Given the description of an element on the screen output the (x, y) to click on. 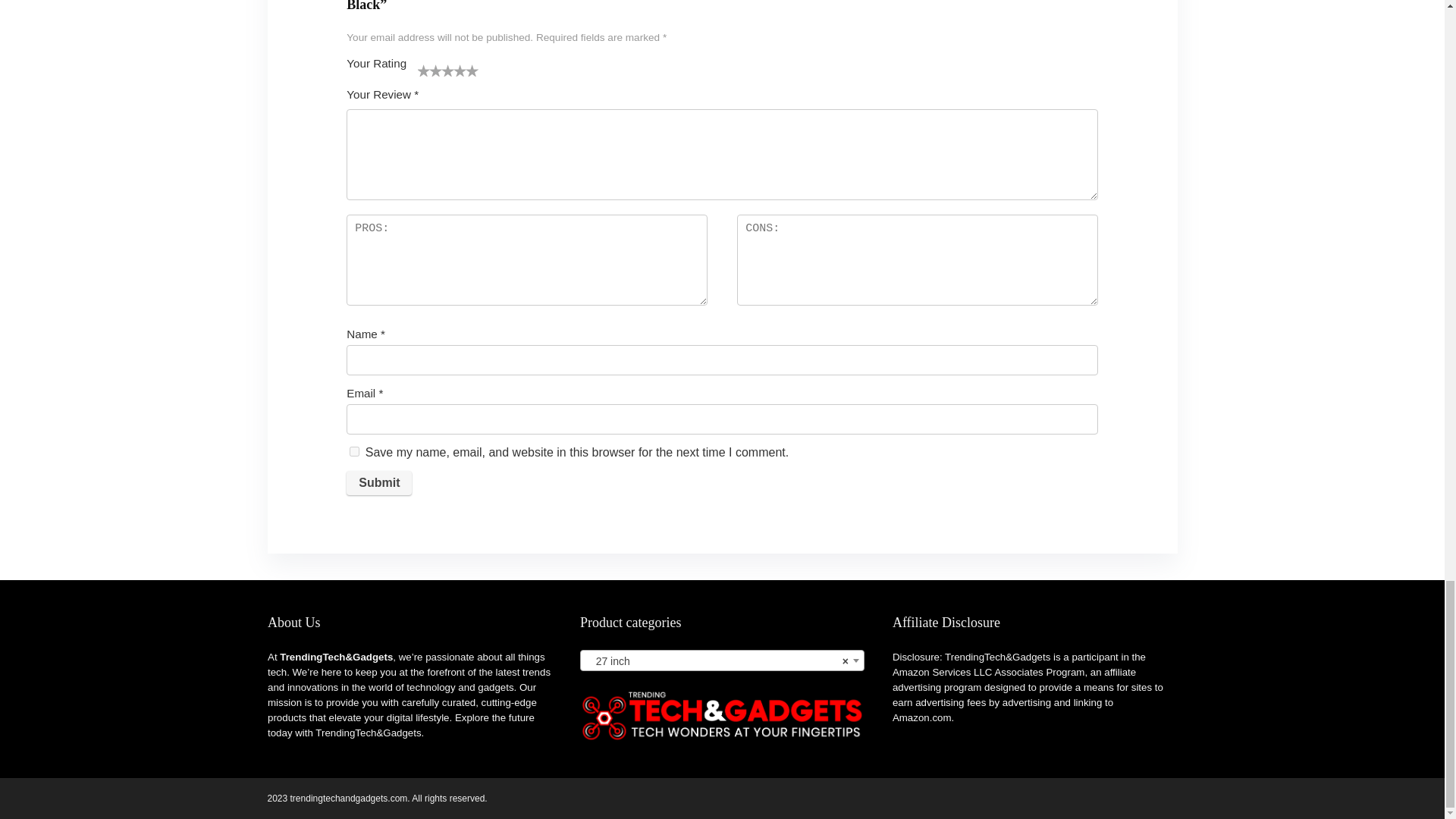
yes (354, 451)
Submit (379, 482)
